Given the description of an element on the screen output the (x, y) to click on. 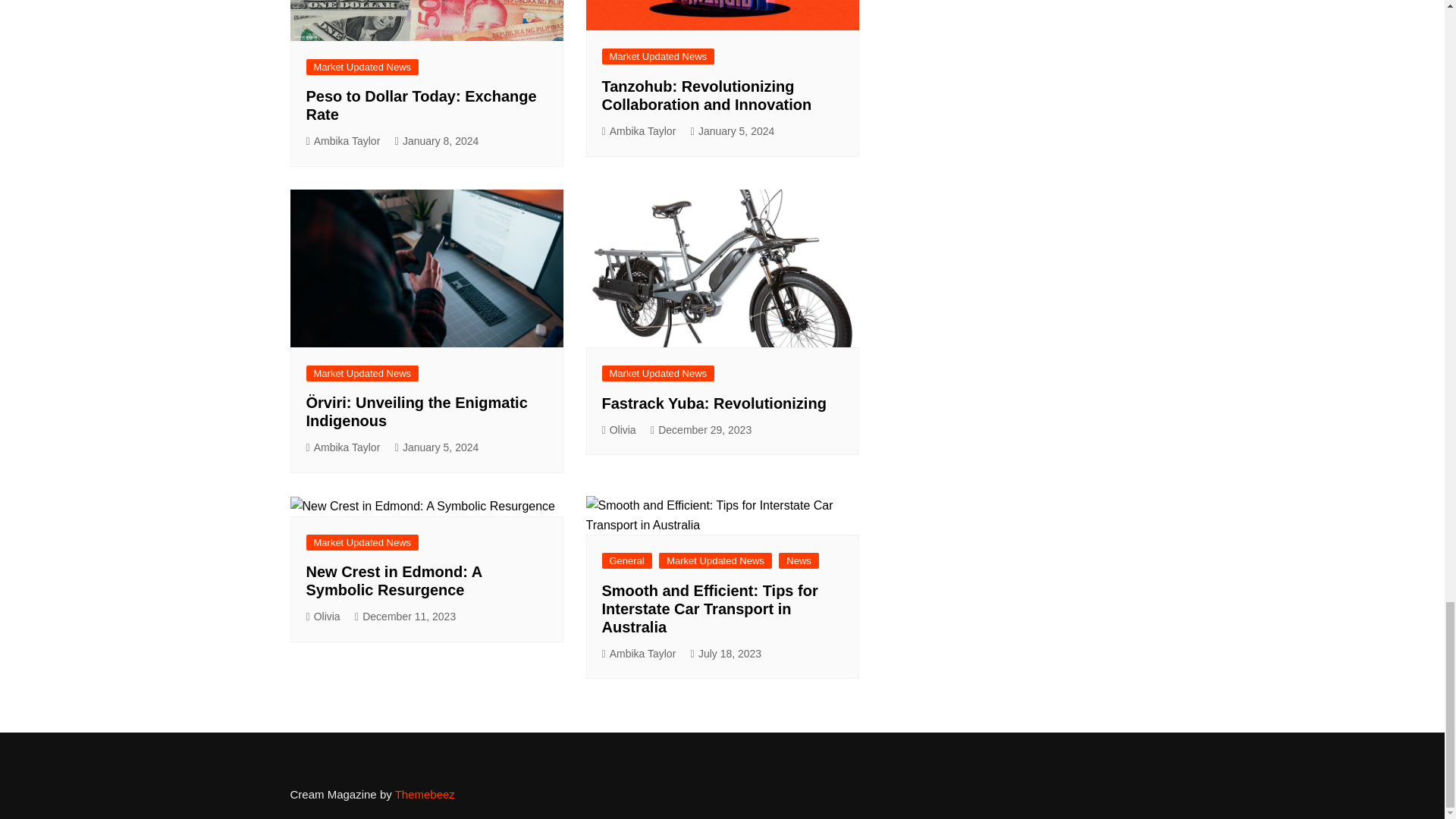
Market Updated News (362, 66)
Market Updated News (658, 56)
Ambika Taylor (342, 140)
January 8, 2024 (436, 140)
Peso to Dollar Today: Exchange Rate (421, 104)
